Given the description of an element on the screen output the (x, y) to click on. 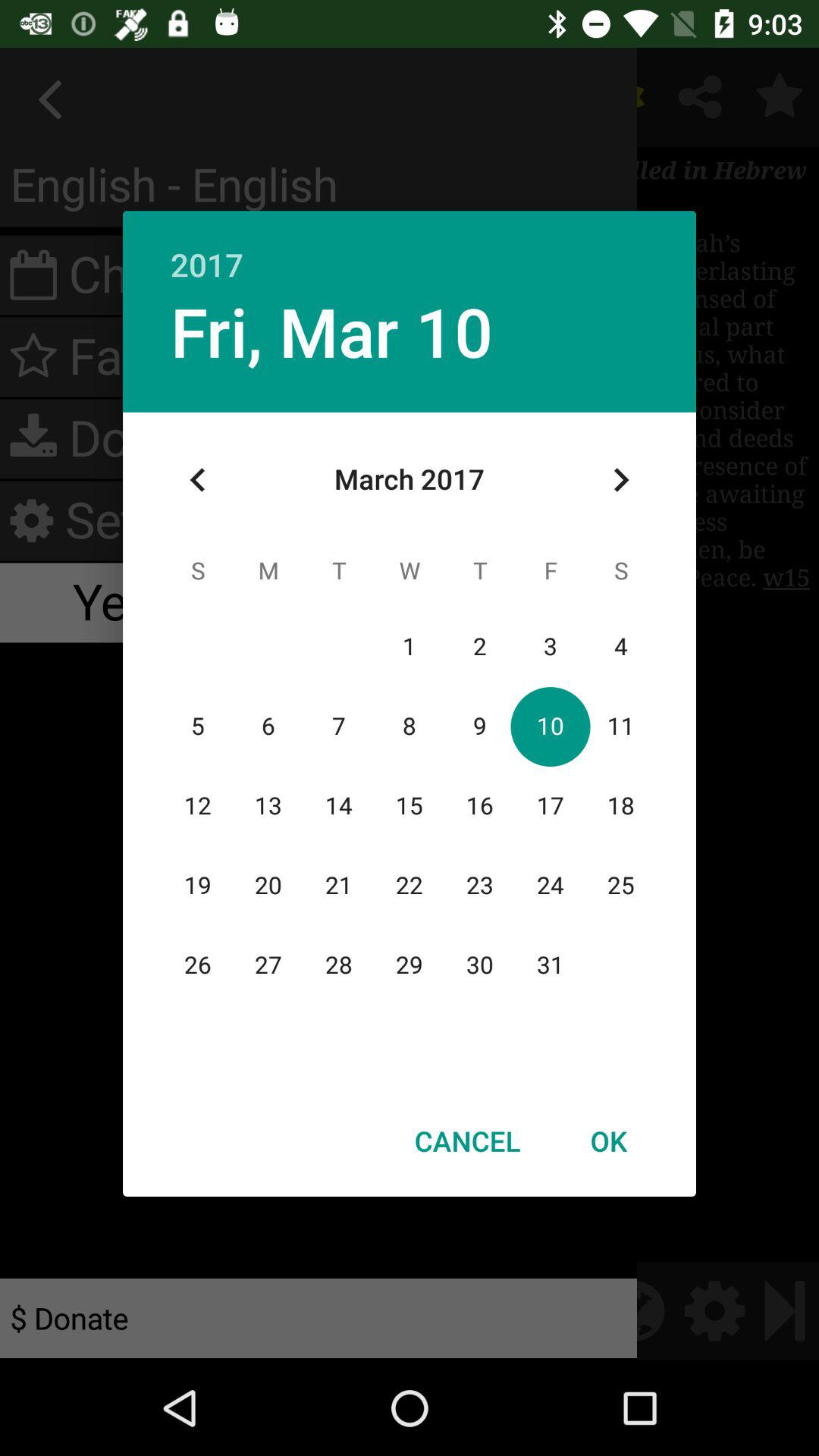
turn off icon next to the ok icon (467, 1140)
